Given the description of an element on the screen output the (x, y) to click on. 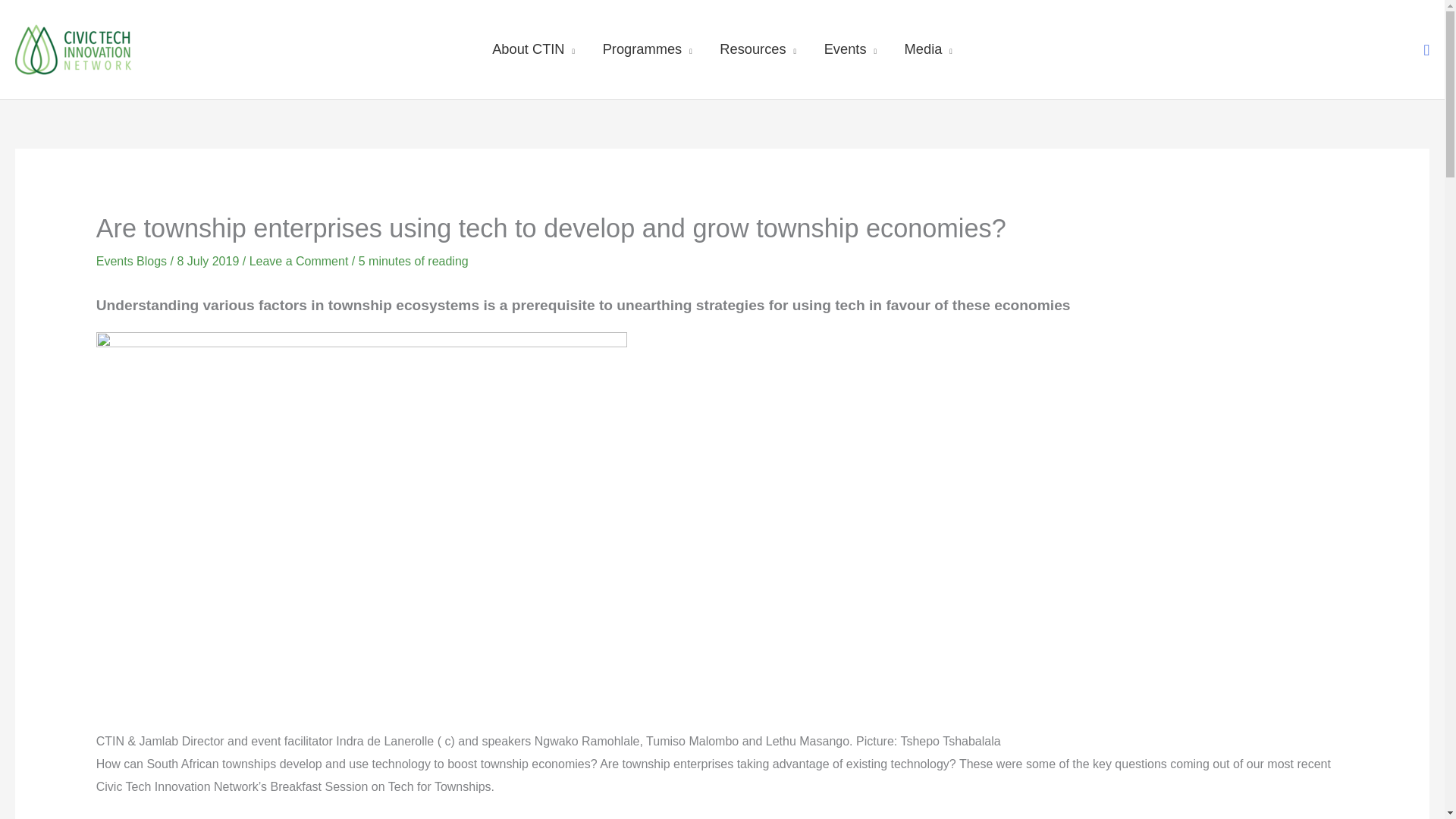
Programmes (647, 49)
Resources (757, 49)
Events (849, 49)
About CTIN (534, 49)
